Given the description of an element on the screen output the (x, y) to click on. 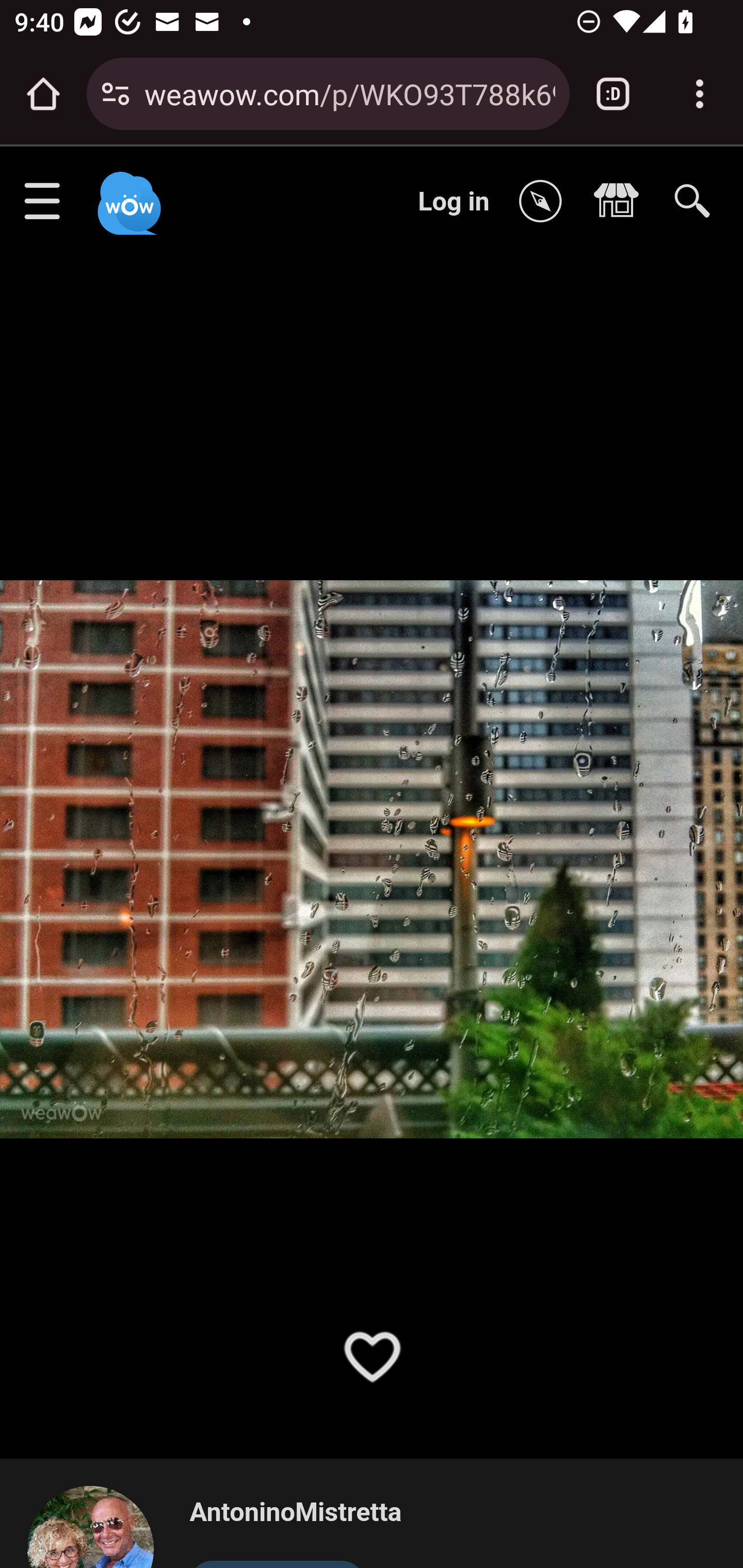
Open the home page (43, 93)
Connection is secure (115, 93)
Switch or close tabs (612, 93)
Customize and control Google Chrome (699, 93)
weawow.com/p/WKO93T788k690724 (349, 92)
Weawow (127, 194)
 (545, 201)
 (621, 201)
Log in (453, 201)
AntoninoMistretta (99, 1525)
AntoninoMistretta (294, 1513)
